Given the description of an element on the screen output the (x, y) to click on. 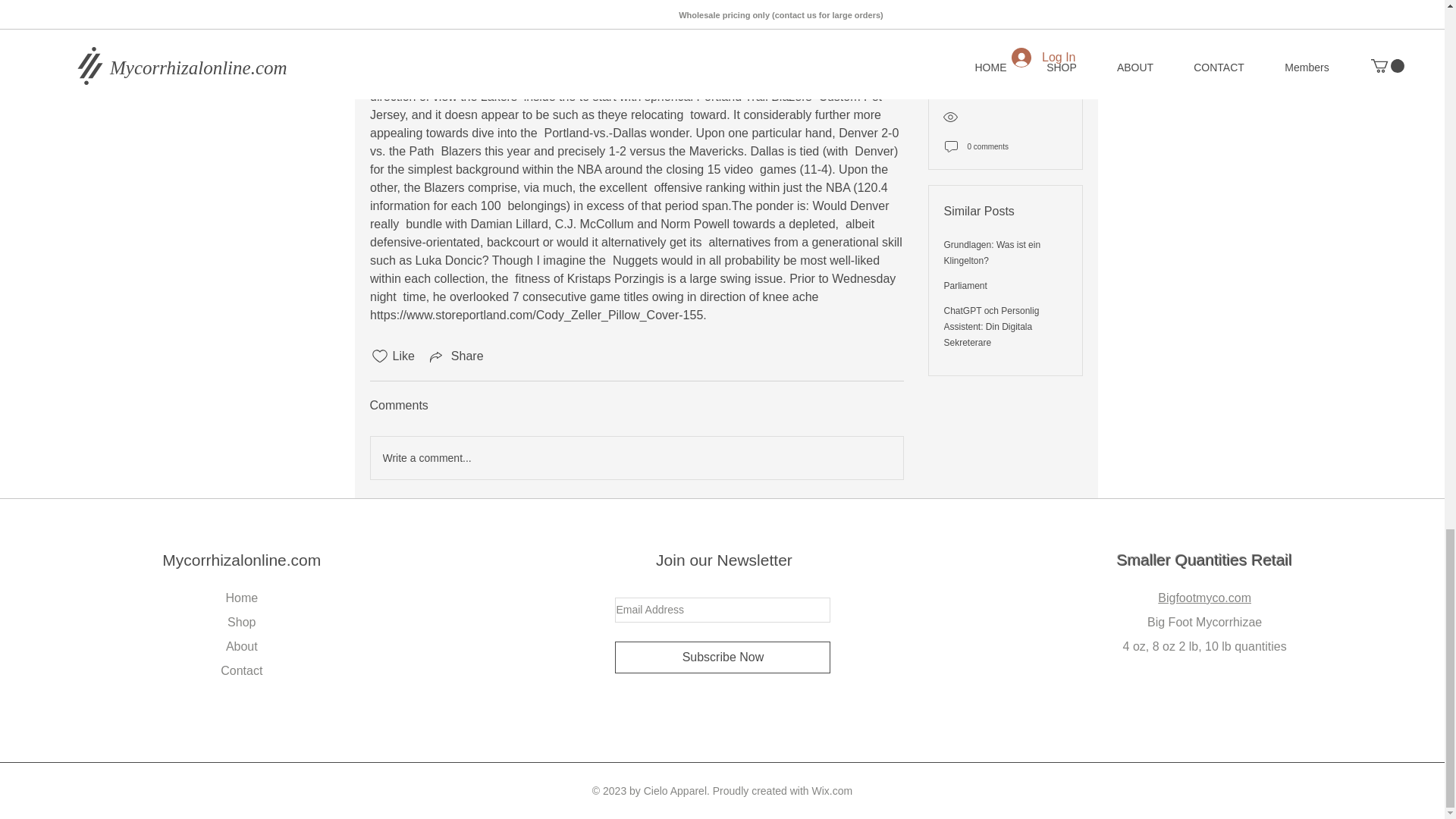
Home (241, 597)
Shop (241, 621)
About (241, 645)
Bigfootmyco.com (1203, 597)
Contact (241, 670)
Smaller Quantities Retail (1204, 559)
Wix.com (832, 790)
Portland Trail Blazers  Custom Pet Jersey (627, 105)
Share (454, 356)
Subscribe Now (721, 657)
